Given the description of an element on the screen output the (x, y) to click on. 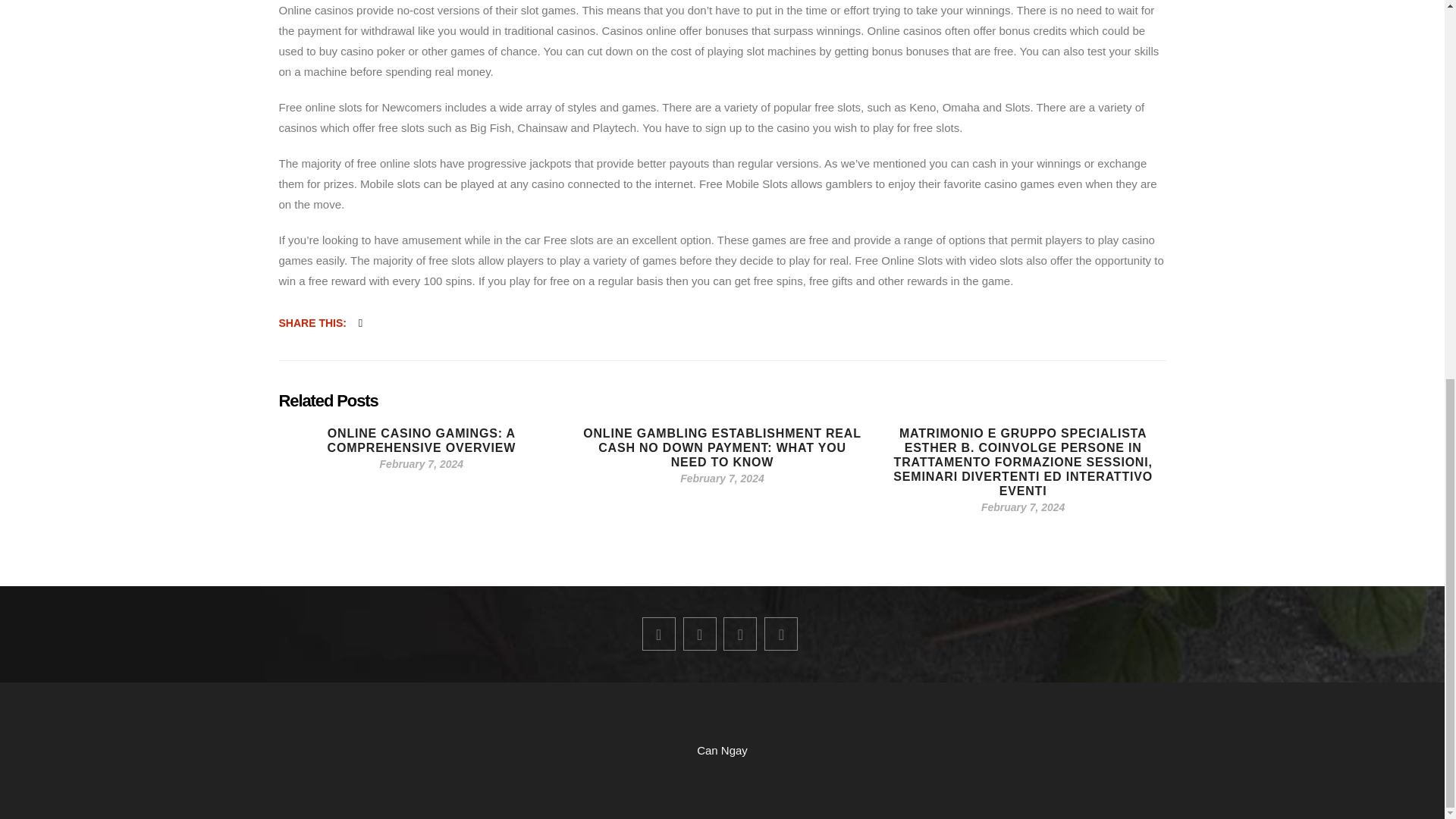
ONLINE CASINO GAMINGS: A COMPREHENSIVE OVERVIEW (421, 440)
Online Casino Gamings: A Comprehensive Overview (421, 440)
Instagram (780, 633)
Can Ngay (722, 749)
Pinterest (740, 633)
Twitter (699, 633)
Facebook (658, 633)
